Given the description of an element on the screen output the (x, y) to click on. 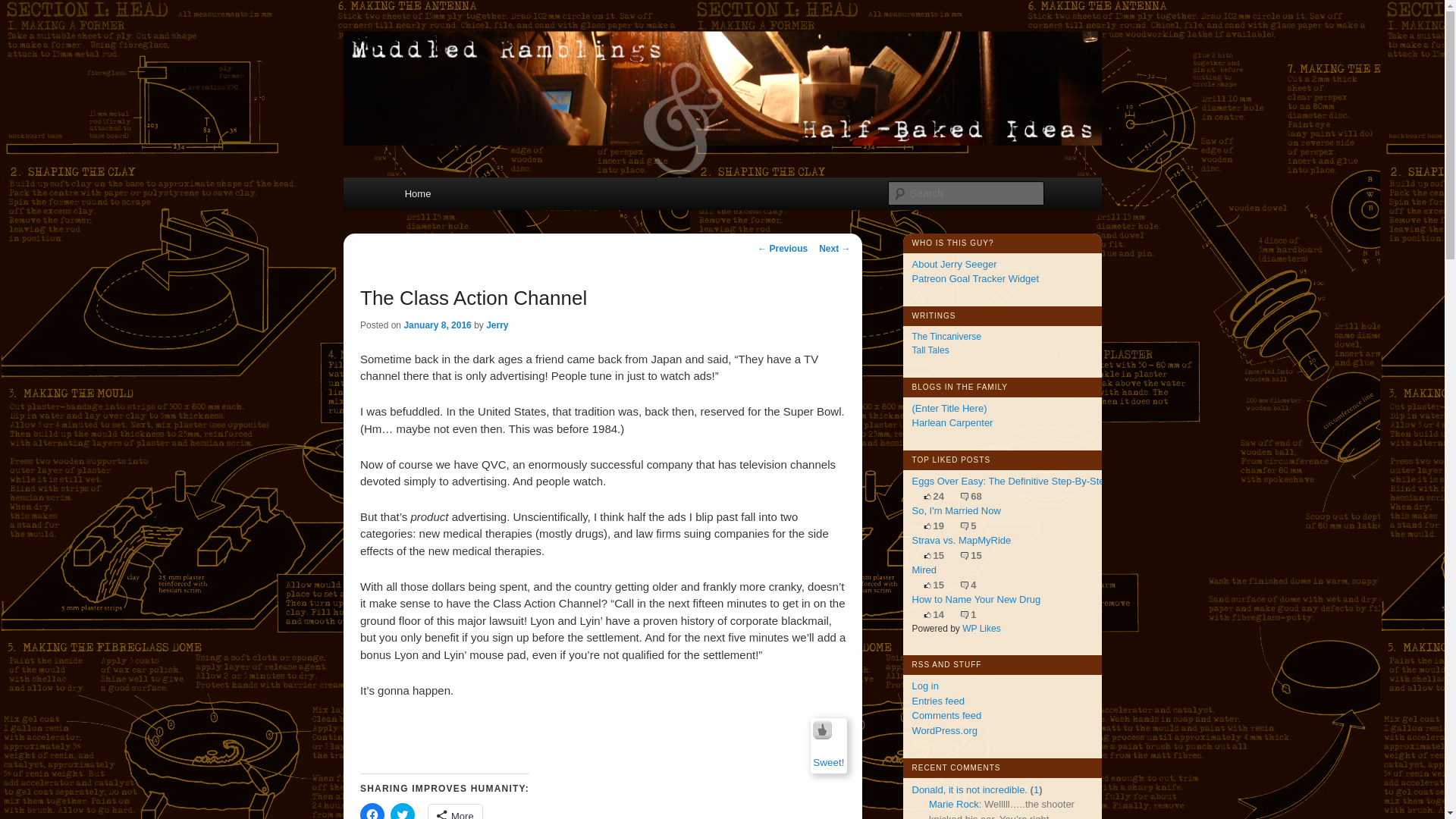
Muddled Ramblings and Half-Baked Ideas (626, 77)
View all posts by Jerry (497, 325)
The Tincaniverse (945, 336)
About Jerry Seeger (953, 264)
Click to share on Facebook (371, 811)
1:38 pm (436, 325)
More (454, 811)
Search (24, 8)
Home (417, 193)
Sweet! (828, 762)
Patreon Goal Tracker Widget (975, 278)
Jerry (497, 325)
Click to share on Twitter (402, 811)
January 8, 2016 (436, 325)
